Given the description of an element on the screen output the (x, y) to click on. 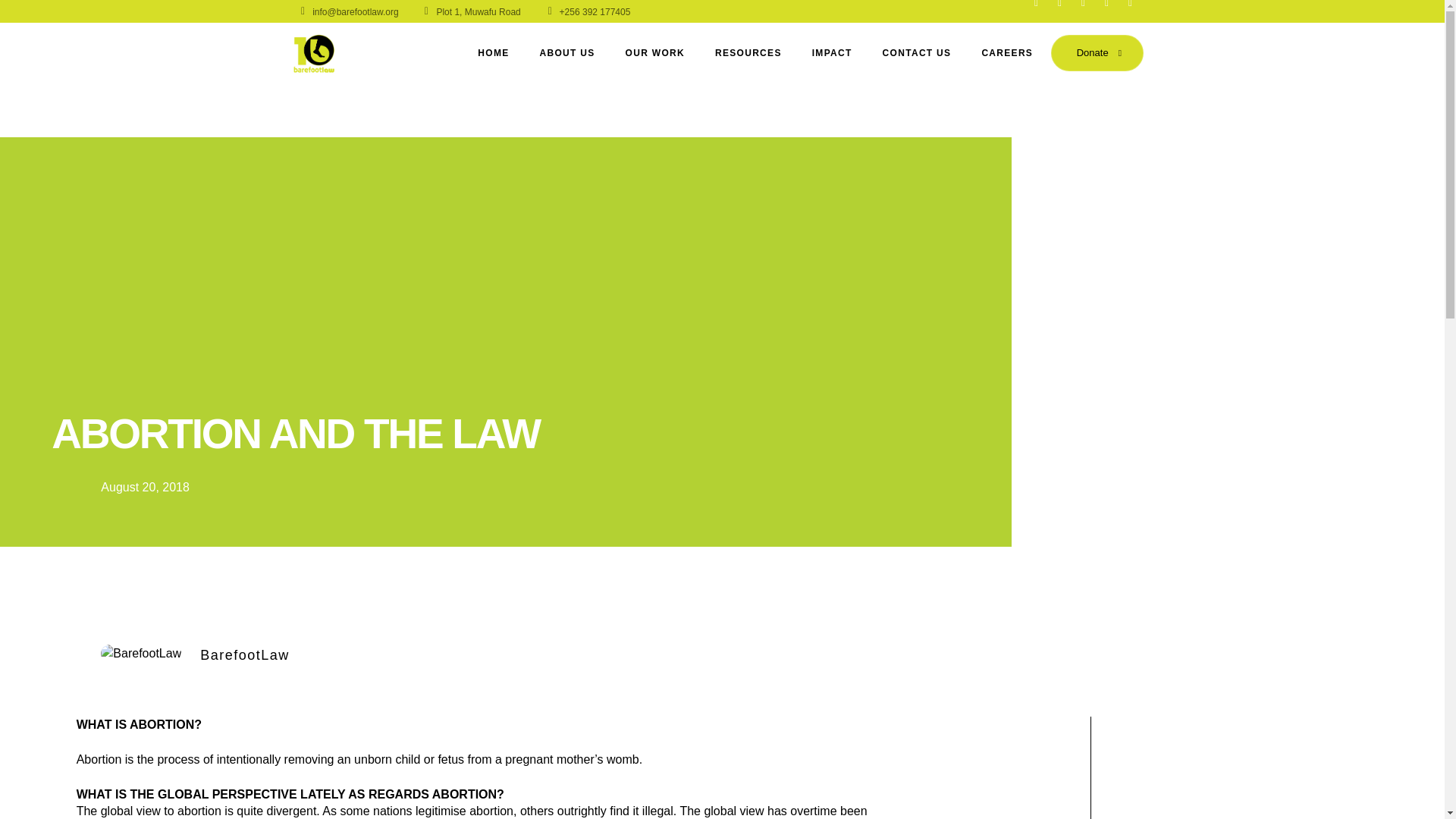
bfl-logo (314, 53)
